Given the description of an element on the screen output the (x, y) to click on. 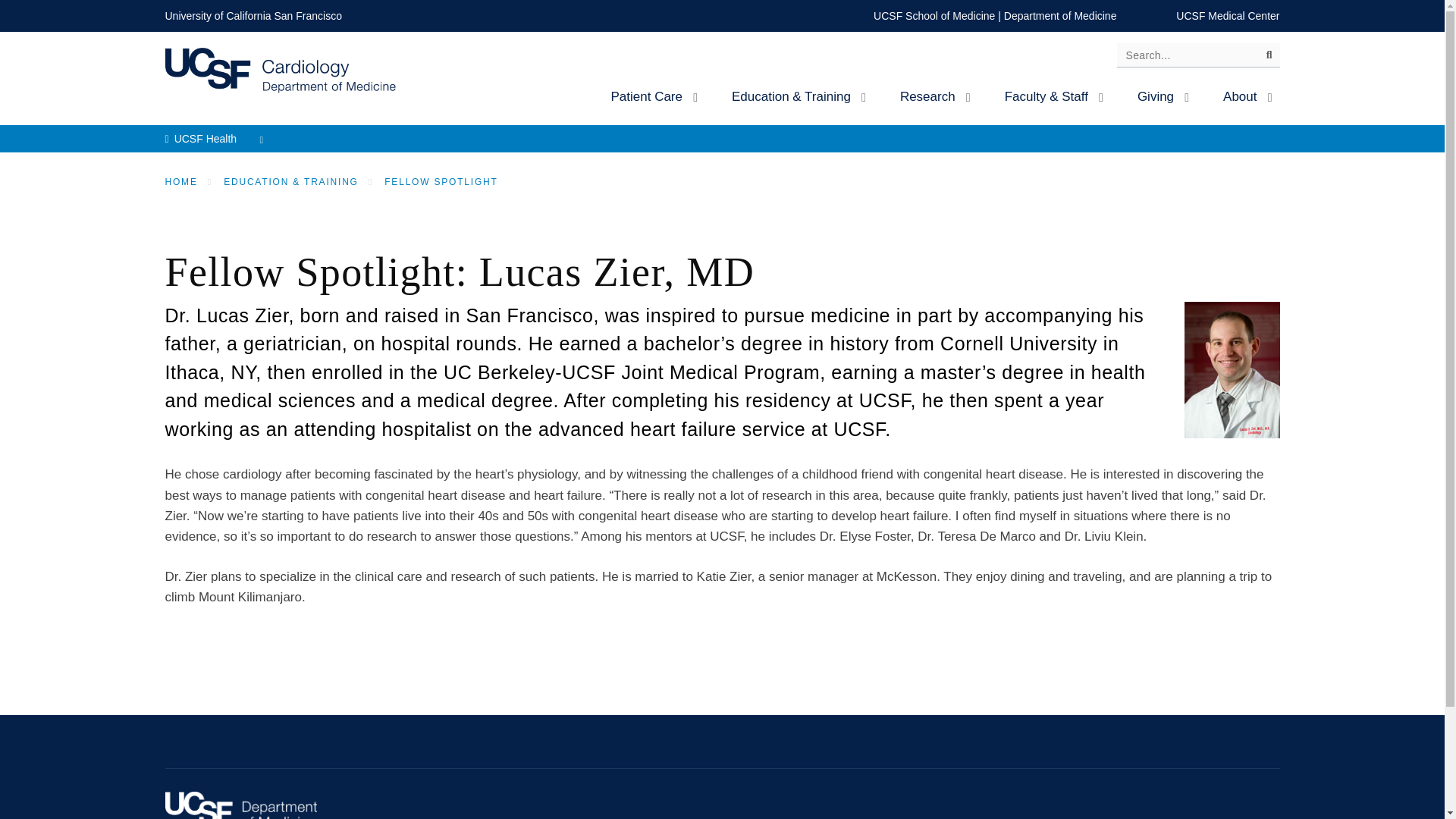
UCSF Medical Center (1227, 15)
University of California San Francisco (253, 15)
SEARCH (1262, 57)
Patient Care (651, 96)
UCSF Health (217, 138)
Department of Medicine (1060, 15)
Giving (1160, 96)
UCSF School of Medicine (933, 15)
About (1245, 96)
Search... (1197, 55)
Research (933, 96)
